Given the description of an element on the screen output the (x, y) to click on. 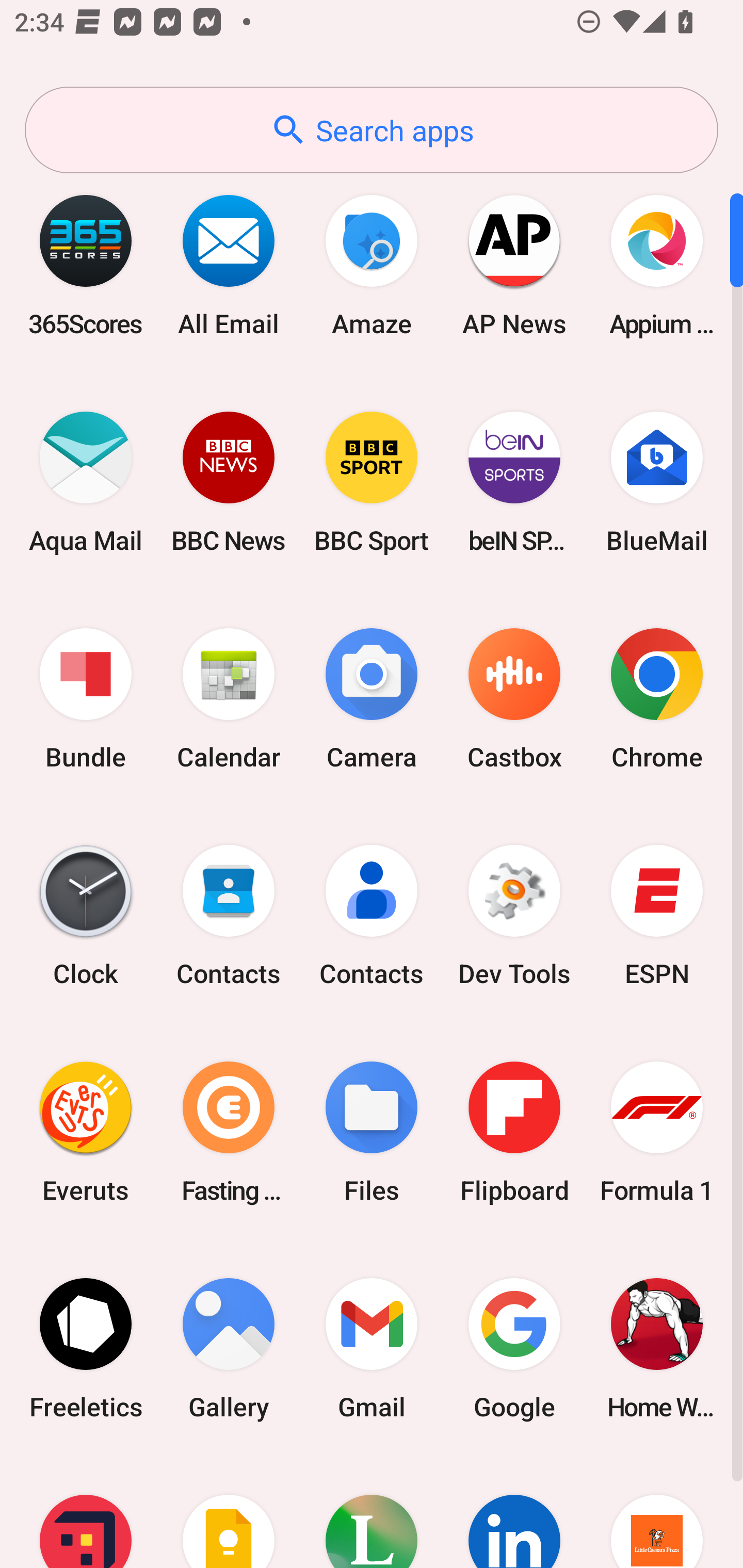
  Search apps (371, 130)
365Scores (85, 264)
All Email (228, 264)
Amaze (371, 264)
AP News (514, 264)
Appium Settings (656, 264)
Aqua Mail (85, 482)
BBC News (228, 482)
BBC Sport (371, 482)
beIN SPORTS (514, 482)
BlueMail (656, 482)
Bundle (85, 699)
Calendar (228, 699)
Camera (371, 699)
Castbox (514, 699)
Chrome (656, 699)
Clock (85, 915)
Contacts (228, 915)
Contacts (371, 915)
Dev Tools (514, 915)
ESPN (656, 915)
Everuts (85, 1131)
Fasting Coach (228, 1131)
Files (371, 1131)
Flipboard (514, 1131)
Formula 1 (656, 1131)
Freeletics (85, 1348)
Gallery (228, 1348)
Gmail (371, 1348)
Google (514, 1348)
Home Workout (656, 1348)
Hotels.com (85, 1512)
Keep Notes (228, 1512)
Lifesum (371, 1512)
LinkedIn (514, 1512)
Little Caesars Pizza (656, 1512)
